Given the description of an element on the screen output the (x, y) to click on. 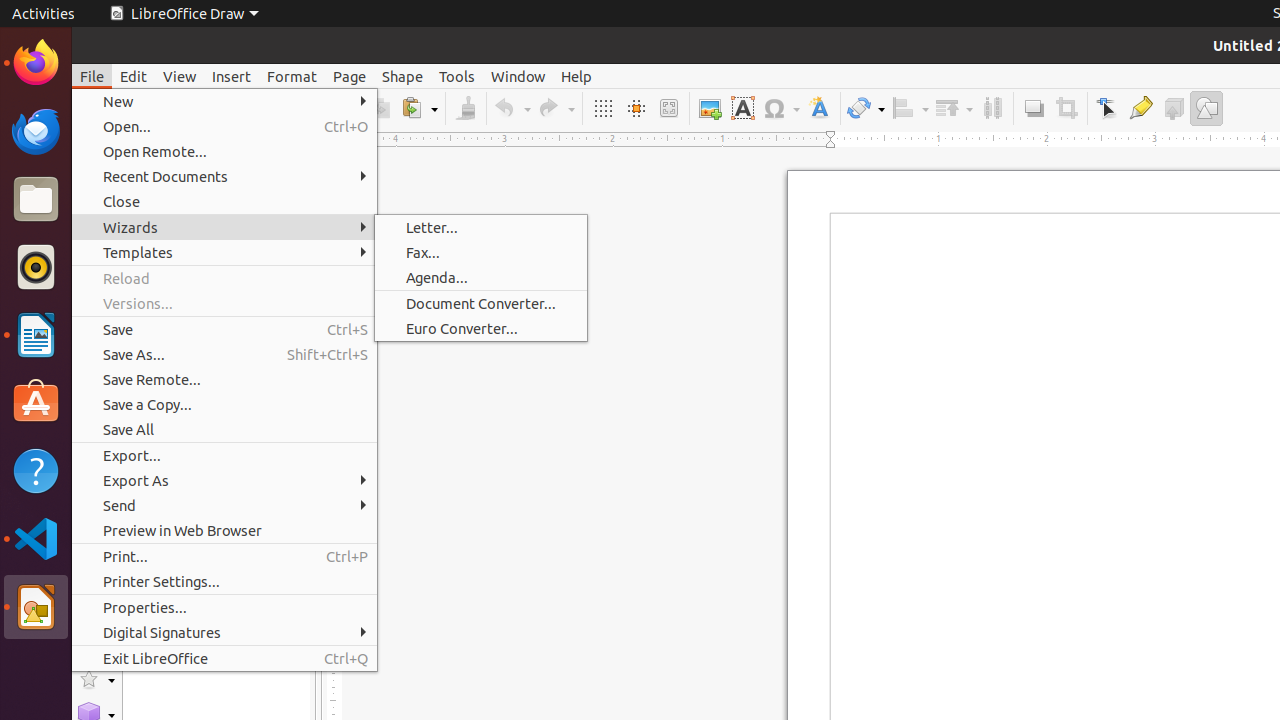
Document Converter... Element type: menu-item (481, 303)
Help Element type: menu (576, 76)
Recent Documents Element type: menu (224, 176)
Image Element type: push-button (709, 108)
Export As Element type: menu (224, 480)
